Given the description of an element on the screen output the (x, y) to click on. 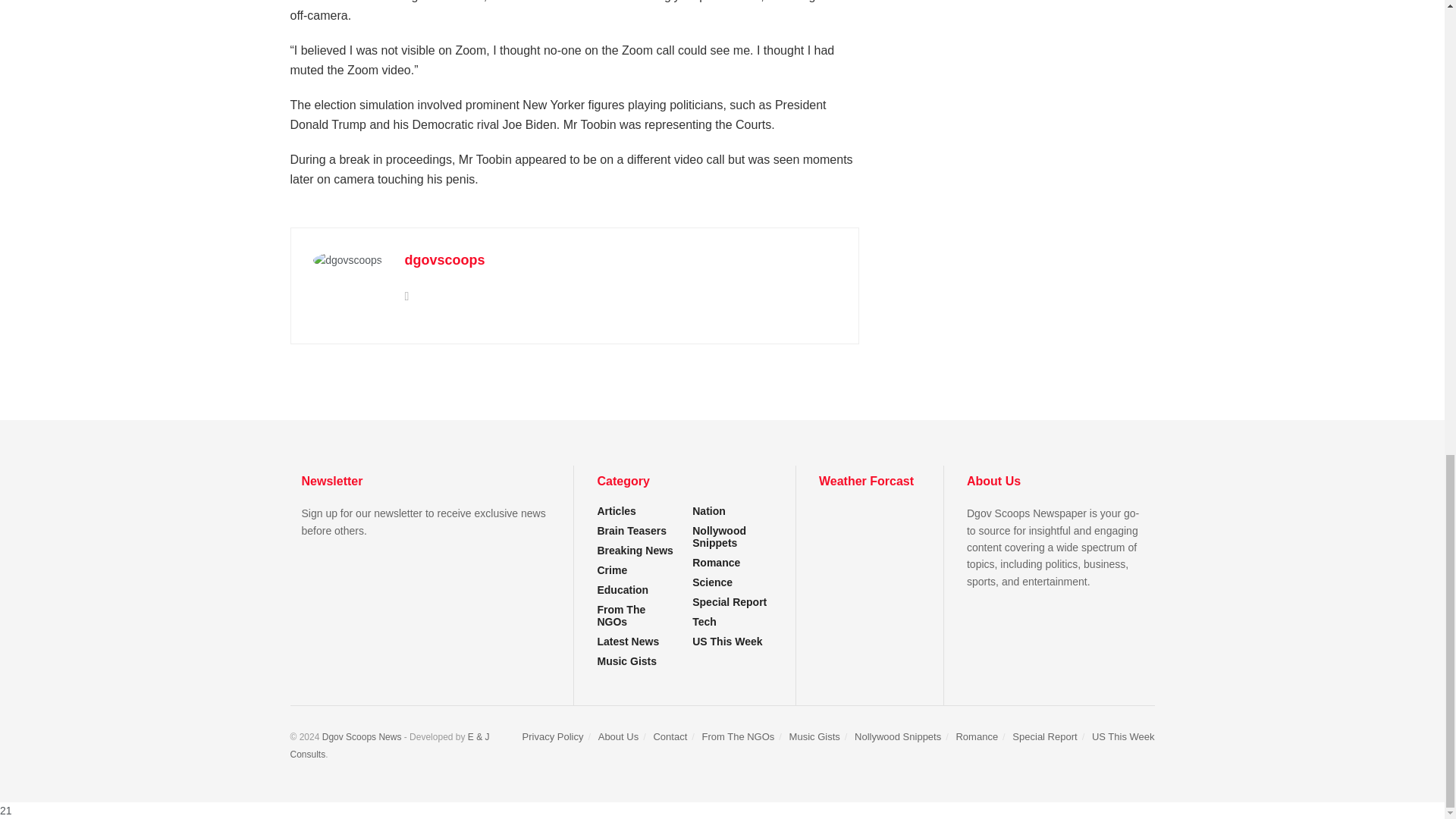
Dgov Scoops News (361, 737)
